Given the description of an element on the screen output the (x, y) to click on. 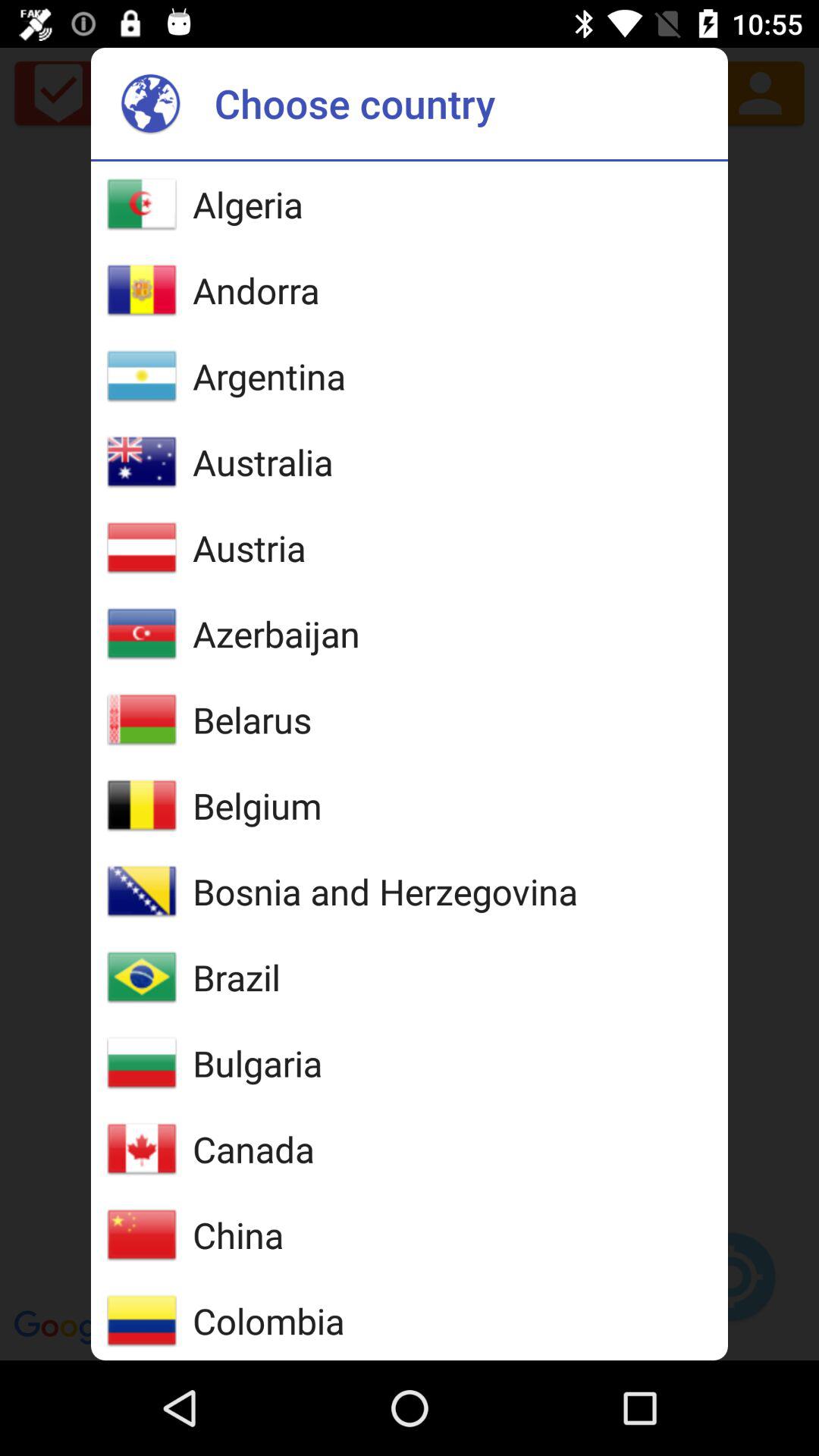
launch item above the andorra (247, 204)
